Given the description of an element on the screen output the (x, y) to click on. 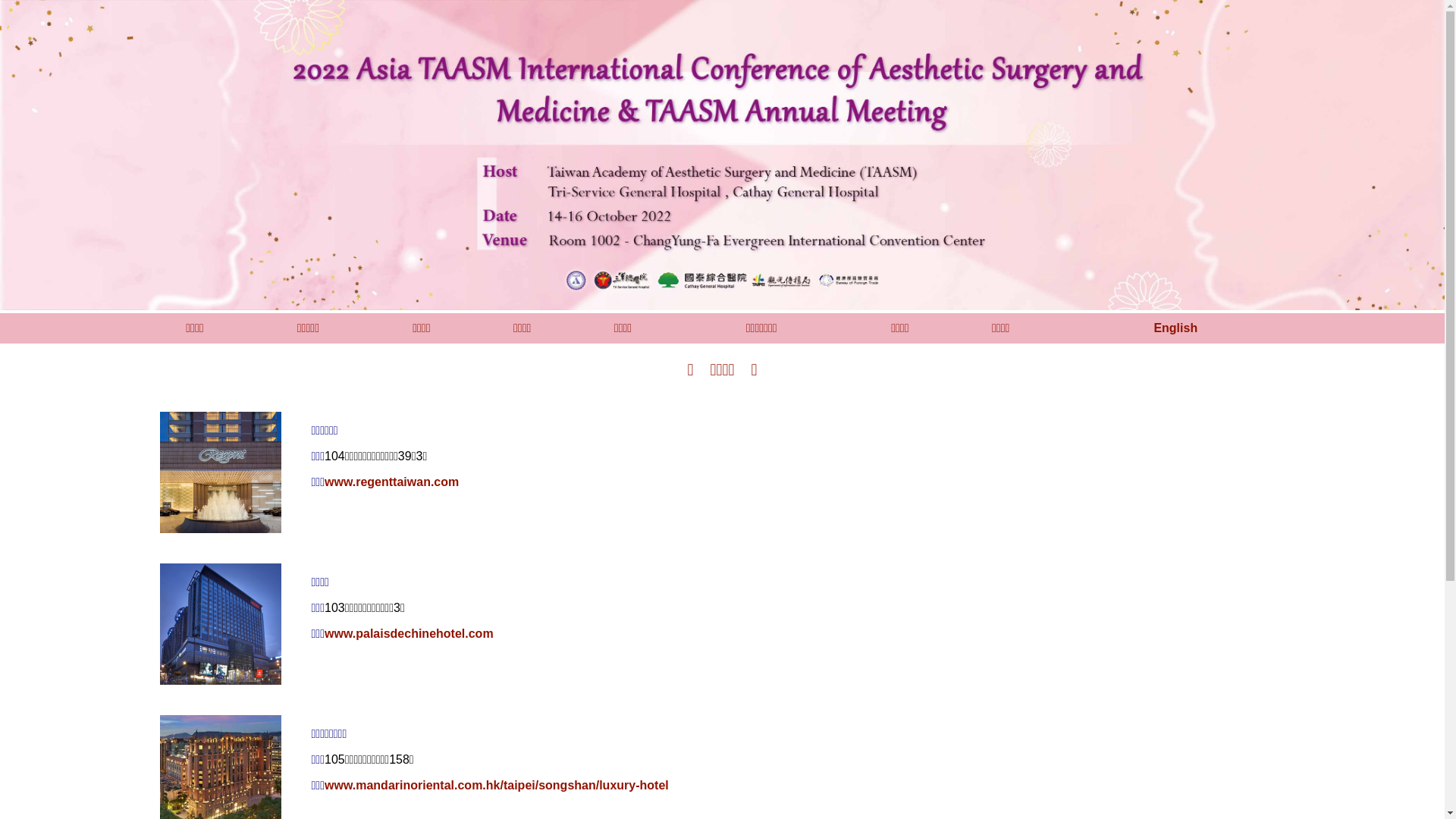
www.palaisdechinehotel.com Element type: text (408, 633)
www.regenttaiwan.com Element type: text (391, 481)
English Element type: text (1175, 327)
www.mandarinoriental.com.hk/taipei/songshan/luxury-hotel Element type: text (496, 784)
